Given the description of an element on the screen output the (x, y) to click on. 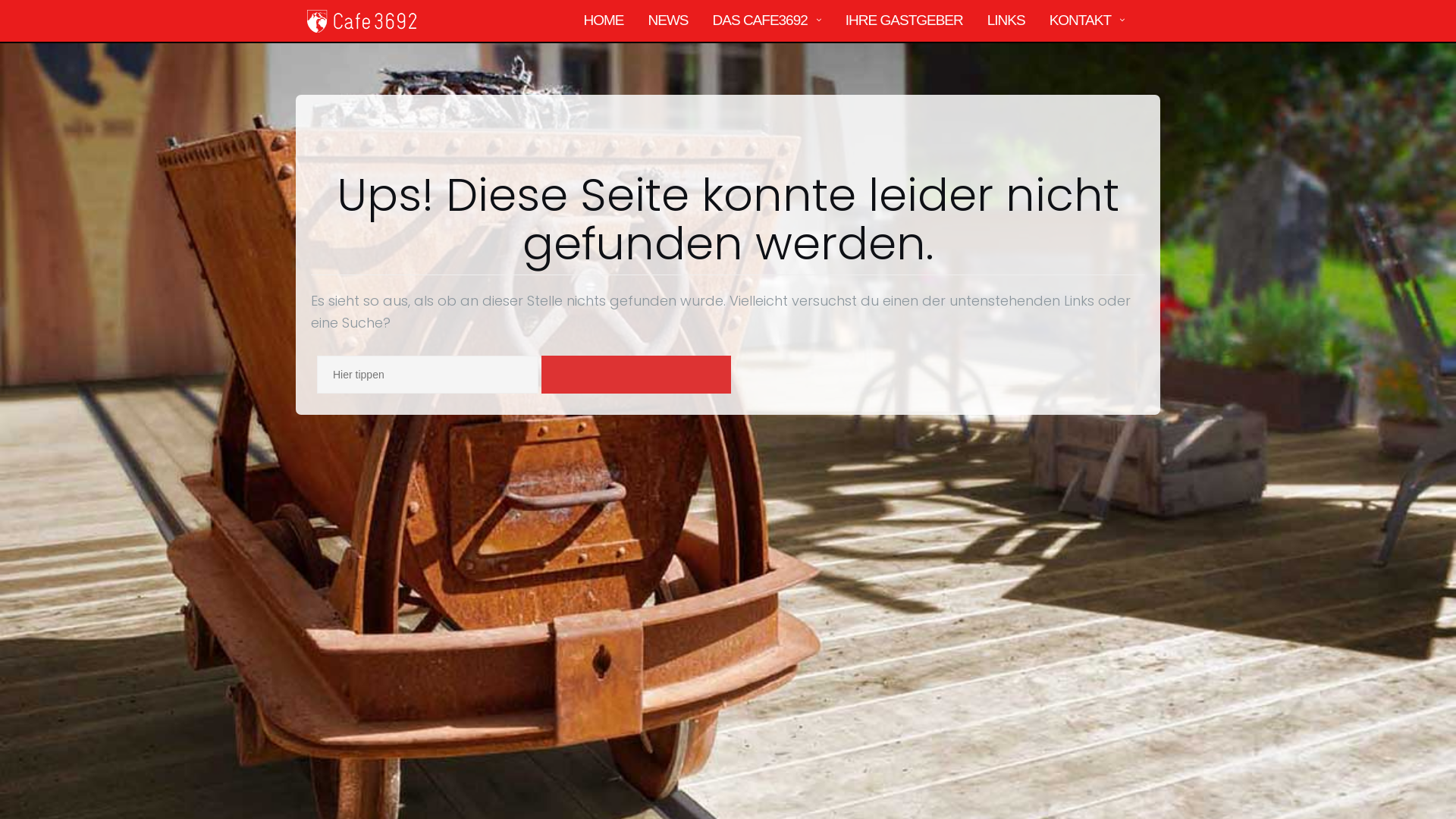
SUCHEN Element type: text (636, 374)
DAS CAFE3692 Element type: text (759, 20)
HOME Element type: text (603, 20)
KONTAKT Element type: text (1079, 20)
NEWS Element type: text (668, 20)
IHRE GASTGEBER Element type: text (904, 20)
LINKS Element type: text (1006, 20)
